Given the description of an element on the screen output the (x, y) to click on. 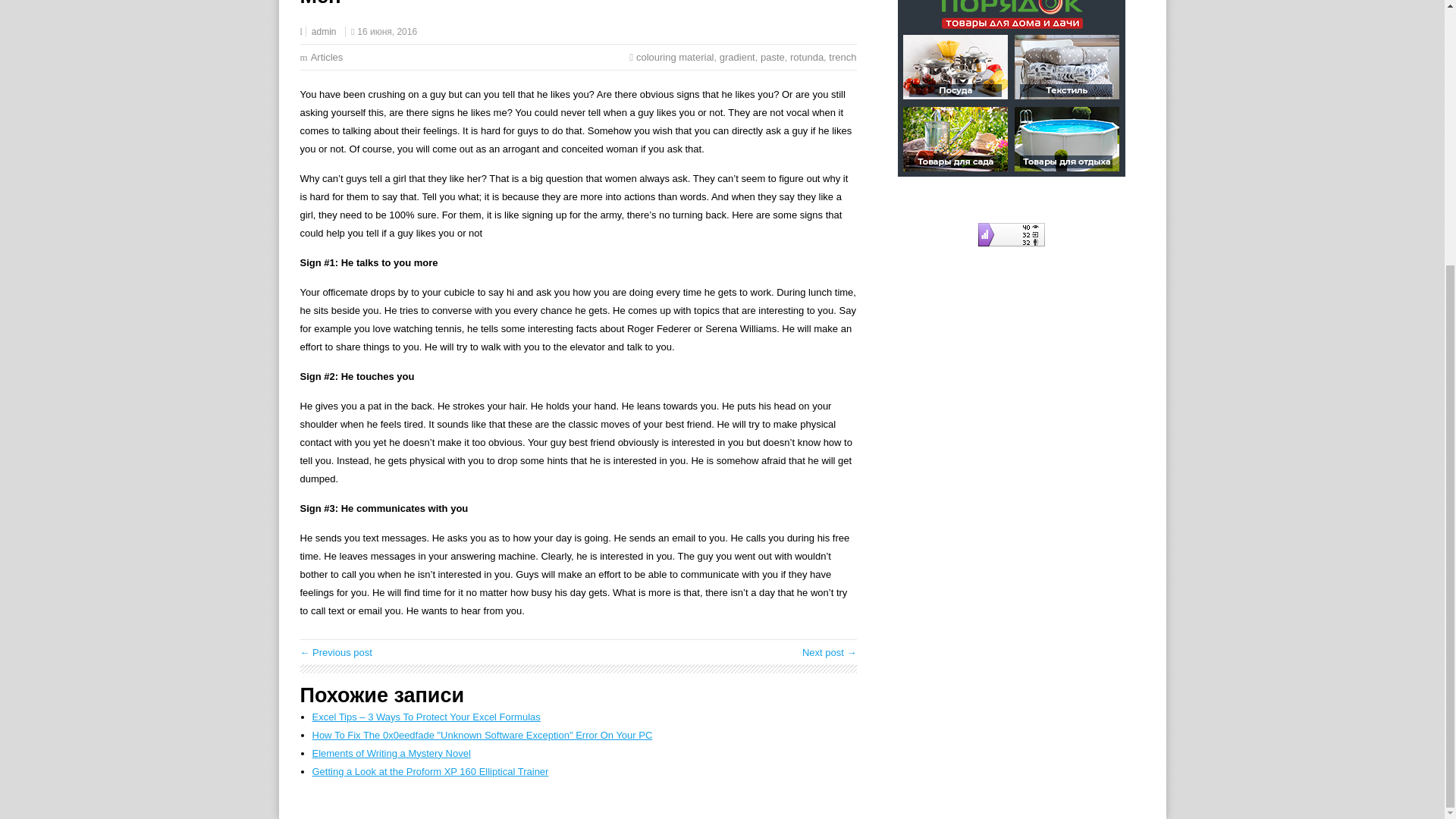
paste (772, 57)
Articles (327, 57)
gradient (737, 57)
trench (842, 57)
Getting a Look at the Proform XP 160 Elliptical Trainer (430, 771)
admin (323, 31)
rotunda (807, 57)
colouring material (675, 57)
